Given the description of an element on the screen output the (x, y) to click on. 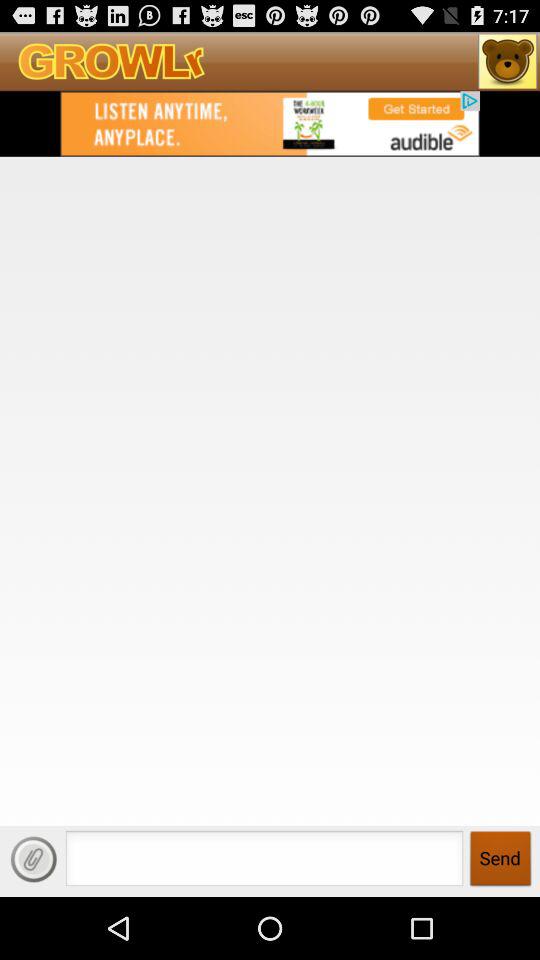
open growlr (507, 61)
